Given the description of an element on the screen output the (x, y) to click on. 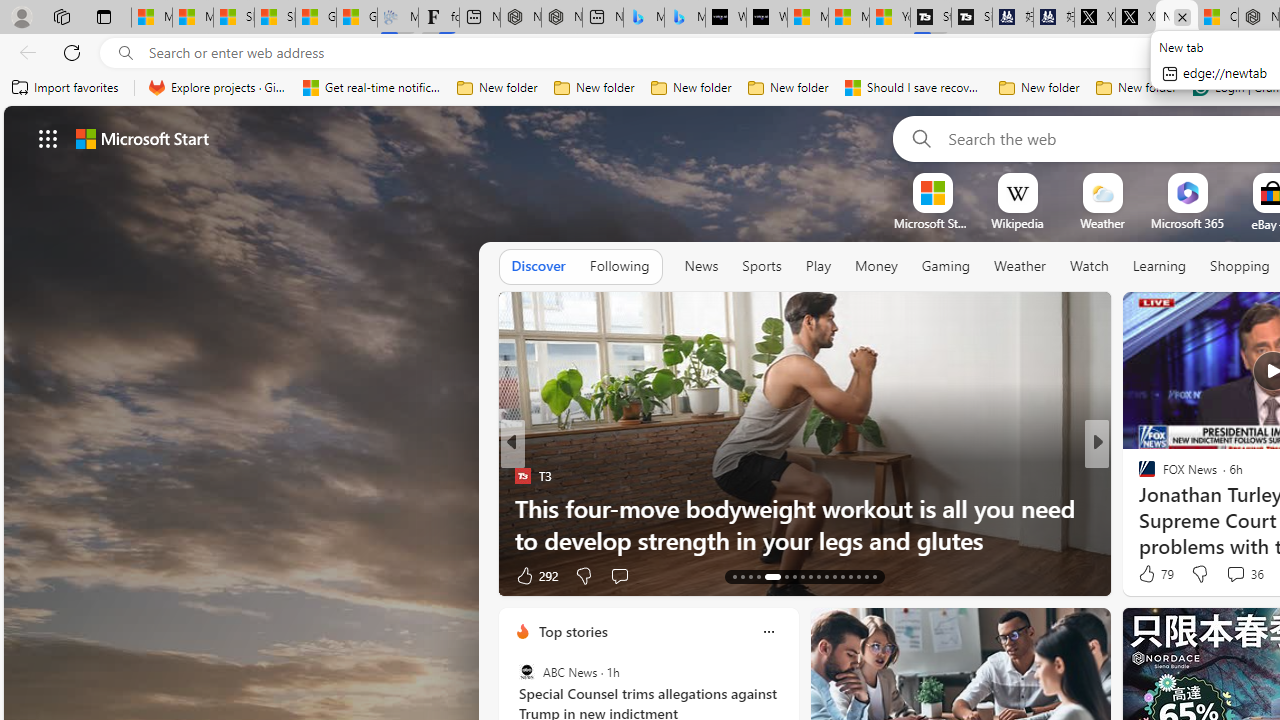
Class: icon-img (768, 632)
79 Like (1154, 574)
View comments 36 Comment (1234, 573)
Workspaces (61, 16)
Nordace - #1 Japanese Best-Seller - Siena Smart Backpack (561, 17)
10 Like (1149, 574)
Search icon (125, 53)
40 Like (1149, 574)
Learning (1159, 265)
View comments 1 Comment (1234, 574)
124 Like (1151, 574)
AutomationID: tab-25 (842, 576)
Tab actions menu (104, 16)
